Given the description of an element on the screen output the (x, y) to click on. 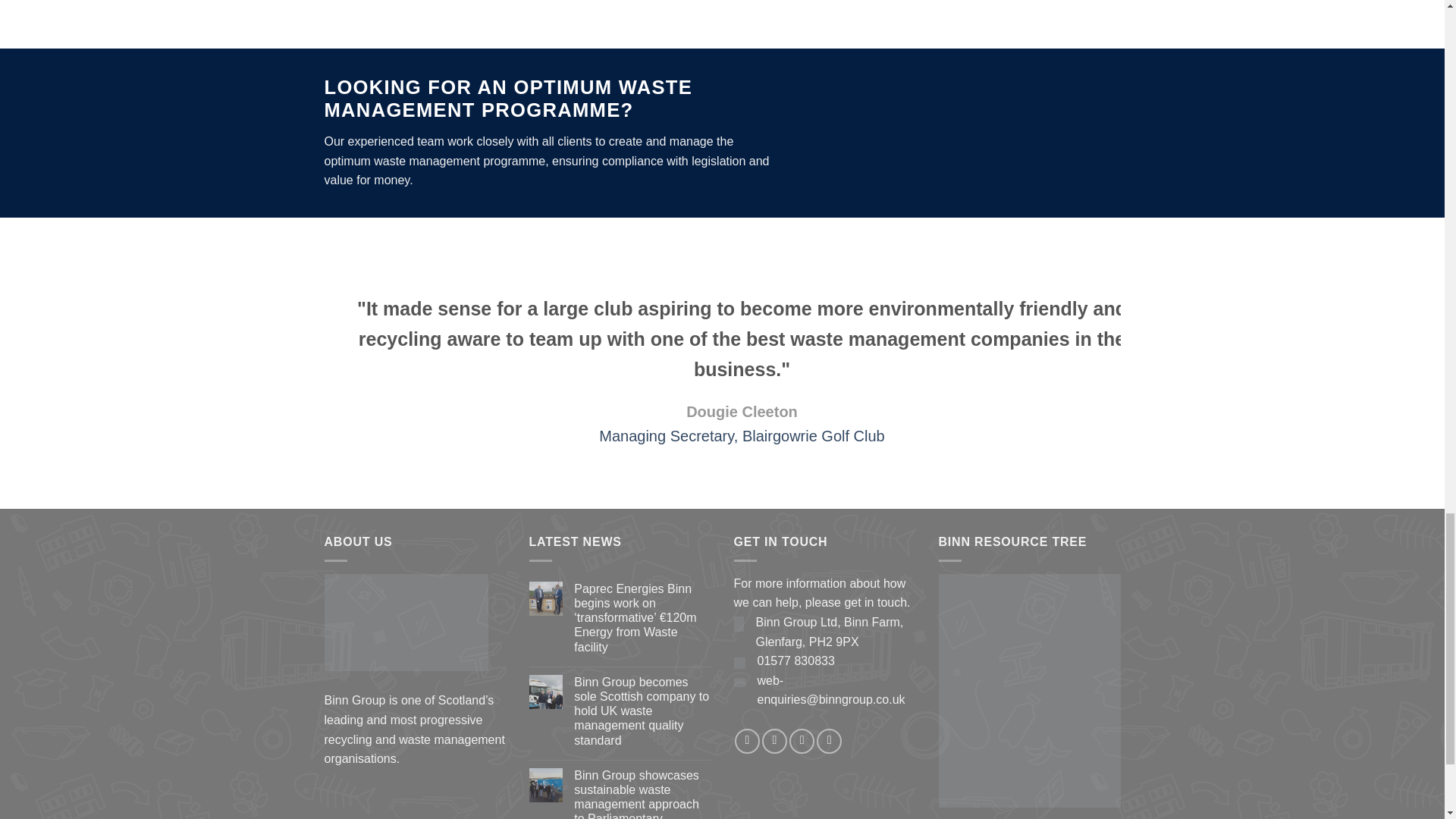
Follow on Facebook (747, 740)
